Given the description of an element on the screen output the (x, y) to click on. 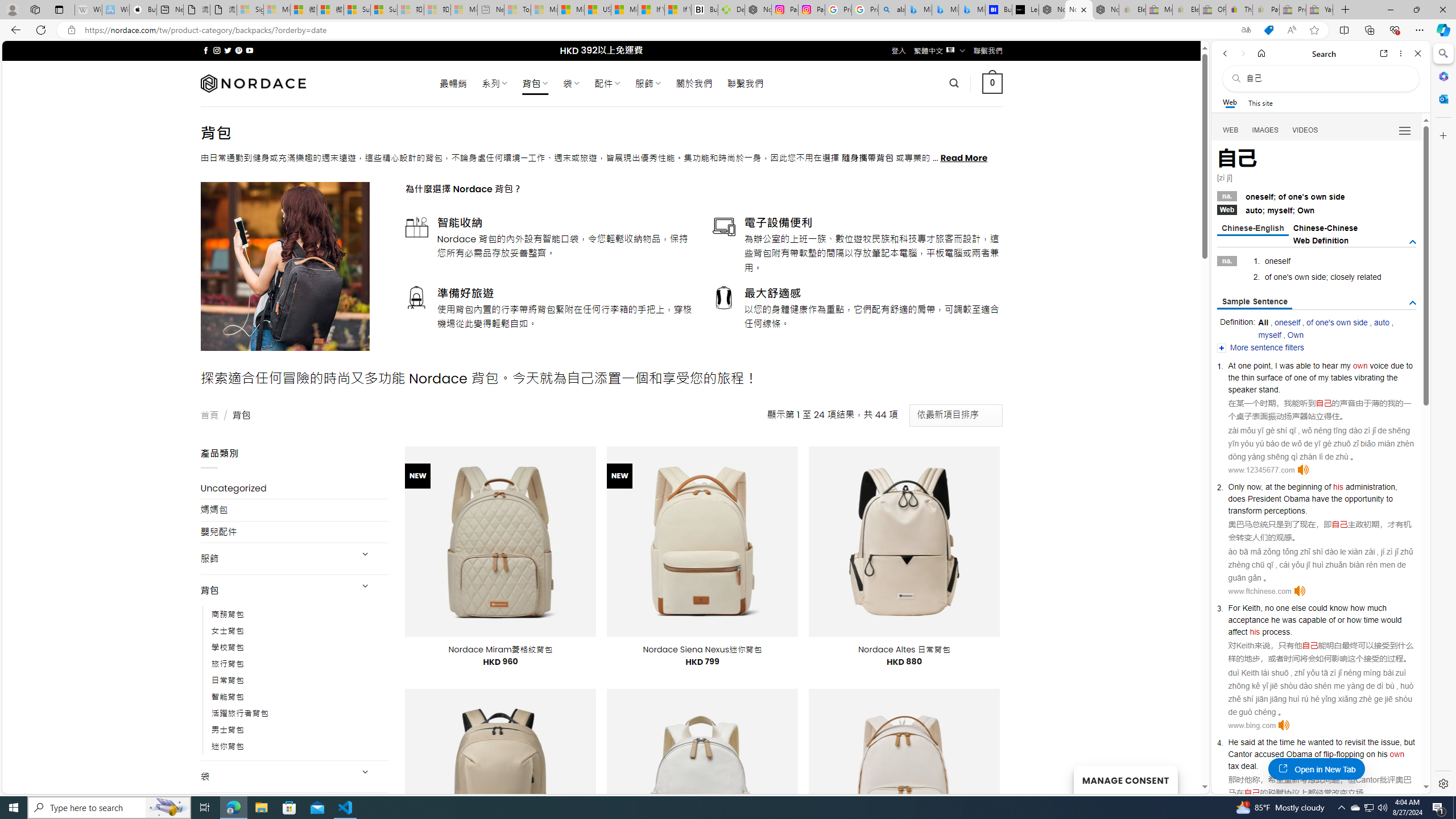
Marine life - MSN - Sleeping (543, 9)
side (1318, 276)
time (1286, 741)
Keith (1245, 645)
to (1389, 498)
